Given the description of an element on the screen output the (x, y) to click on. 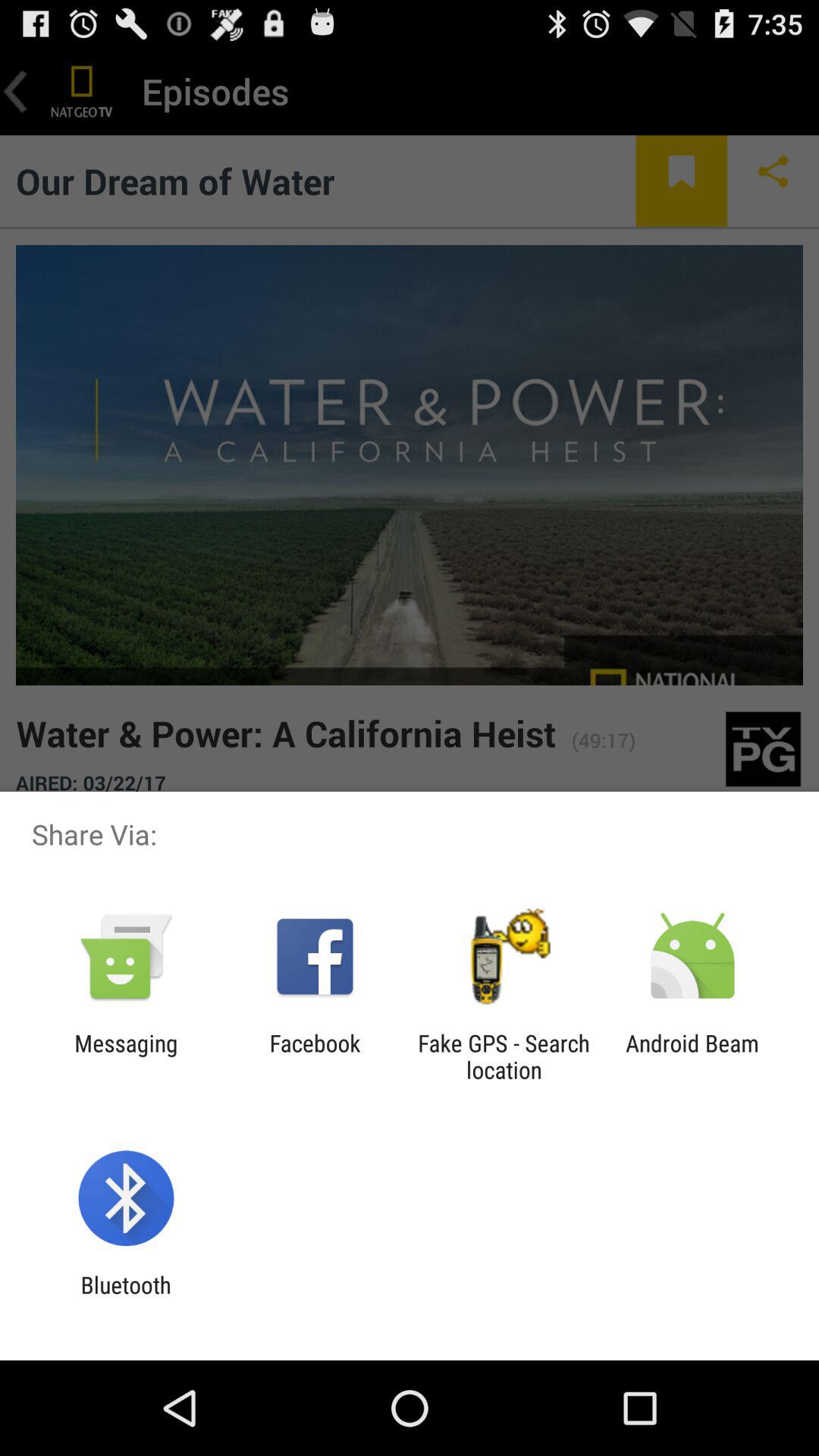
press messaging item (126, 1056)
